Given the description of an element on the screen output the (x, y) to click on. 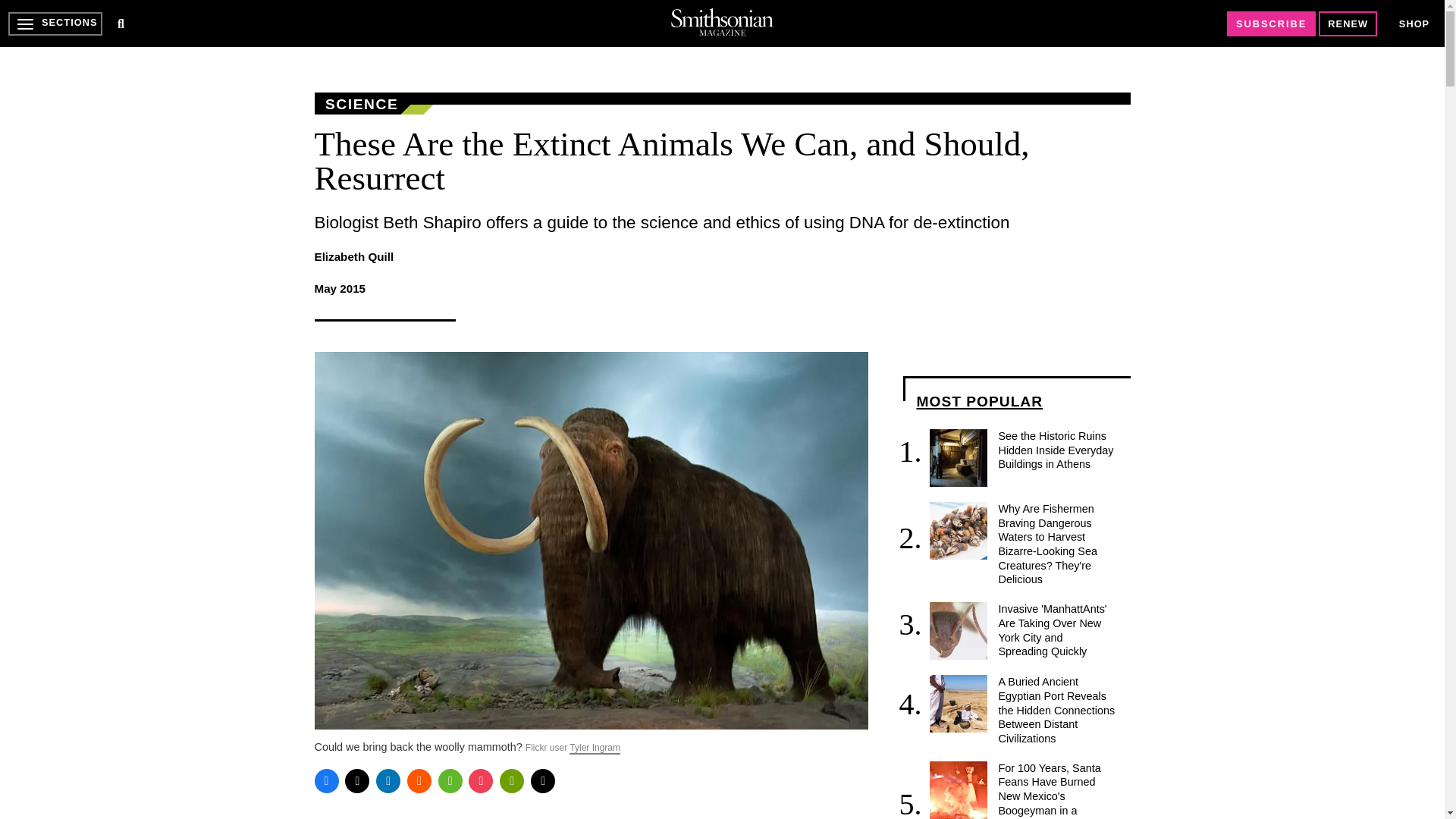
RENEW (1347, 23)
LinkedIn (387, 781)
Print (511, 781)
SHOP (1414, 23)
SUBSCRIBE (1271, 23)
SECTIONS (55, 23)
Twitter (357, 781)
Pocket (480, 781)
WhatsApp (450, 781)
Facebook (325, 781)
